Given the description of an element on the screen output the (x, y) to click on. 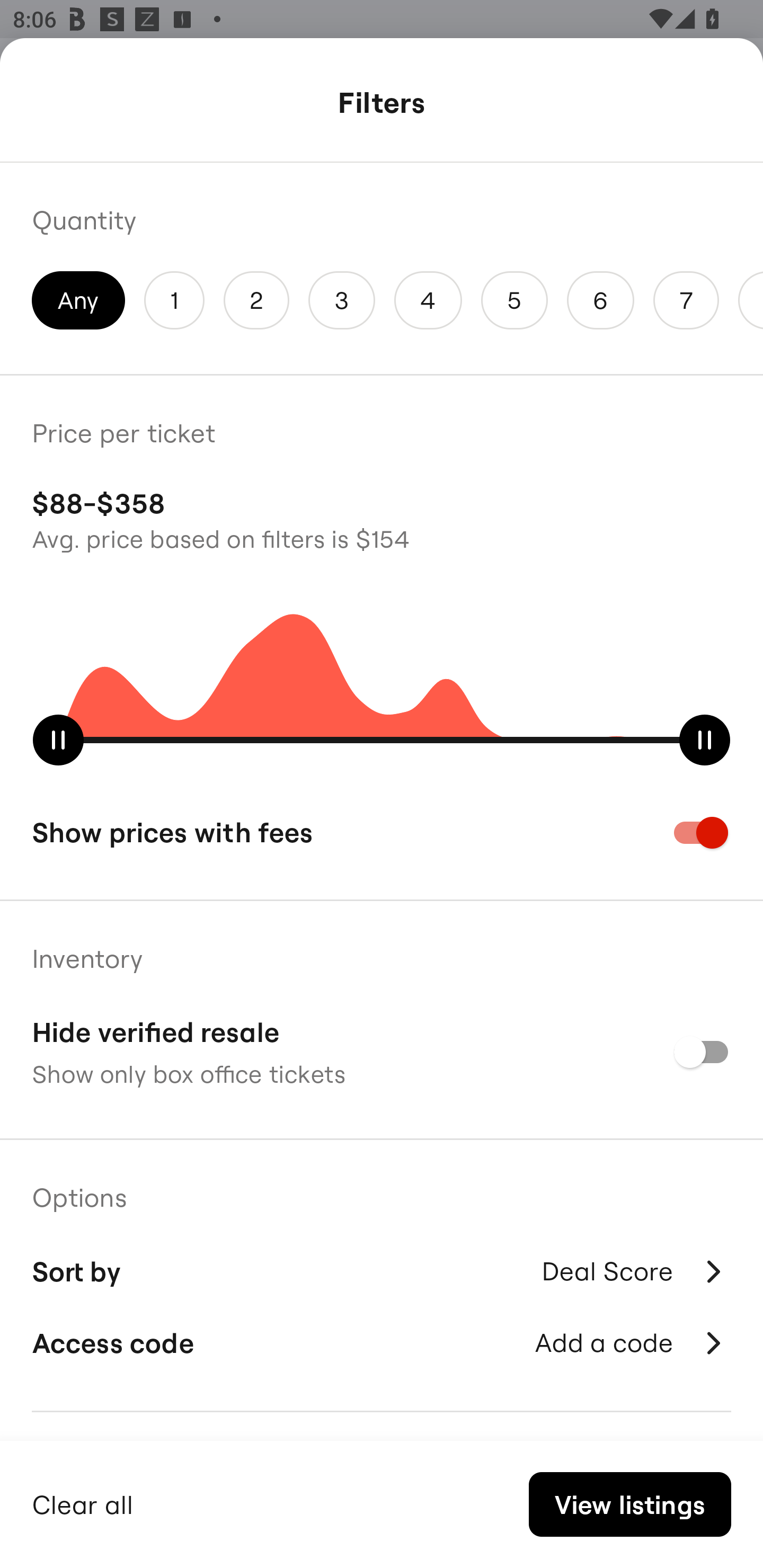
Any (78, 300)
1 (173, 300)
2 (256, 300)
3 (341, 300)
4 (427, 300)
5 (514, 300)
6 (601, 300)
7 (685, 300)
$88-$358 Avg. price based on filters is $154 (381, 518)
Show prices with fees (381, 832)
Hide verified resale Show only box office tickets (381, 1052)
Access code Add a code (381, 1342)
Clear all (83, 1502)
View listings (629, 1504)
